Given the description of an element on the screen output the (x, y) to click on. 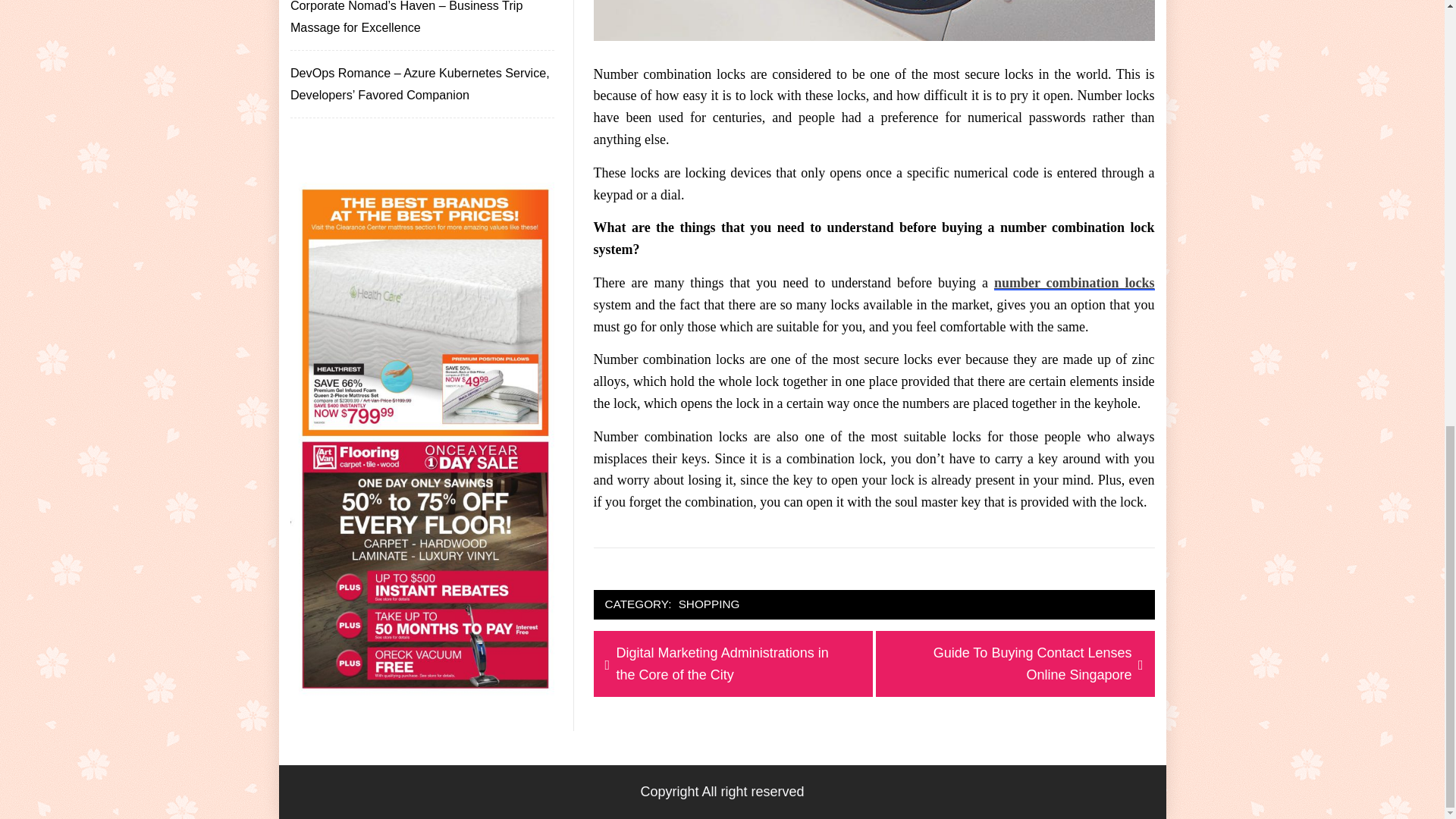
SHOPPING (709, 604)
number combination locks (1074, 282)
